Given the description of an element on the screen output the (x, y) to click on. 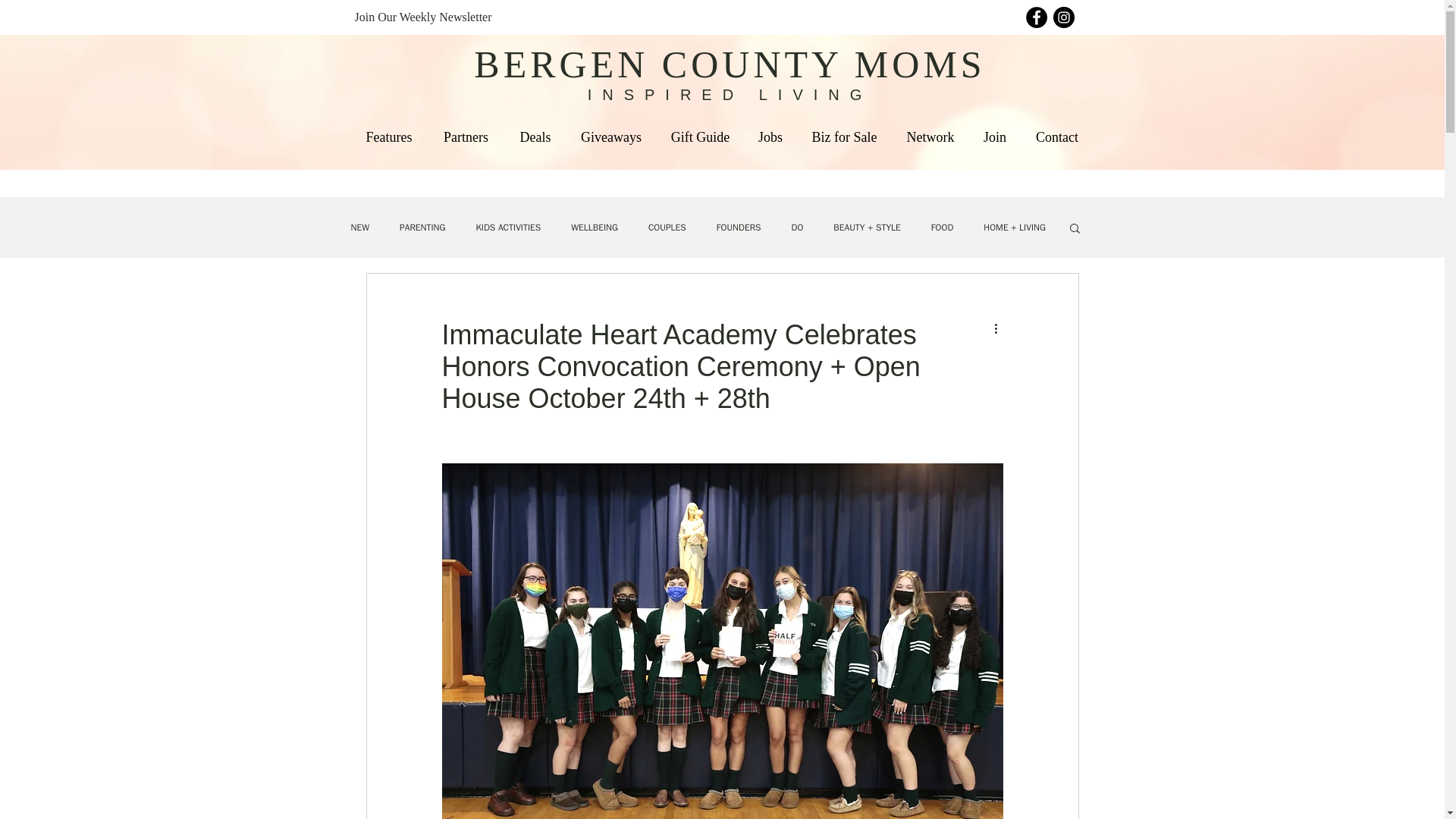
FOUNDERS (738, 227)
Giveaways (611, 137)
Network (929, 137)
FOOD (942, 227)
NEW (359, 227)
Gift Guide (700, 137)
DO (796, 227)
Jobs (770, 137)
Deals (535, 137)
Contact (1056, 137)
